Given the description of an element on the screen output the (x, y) to click on. 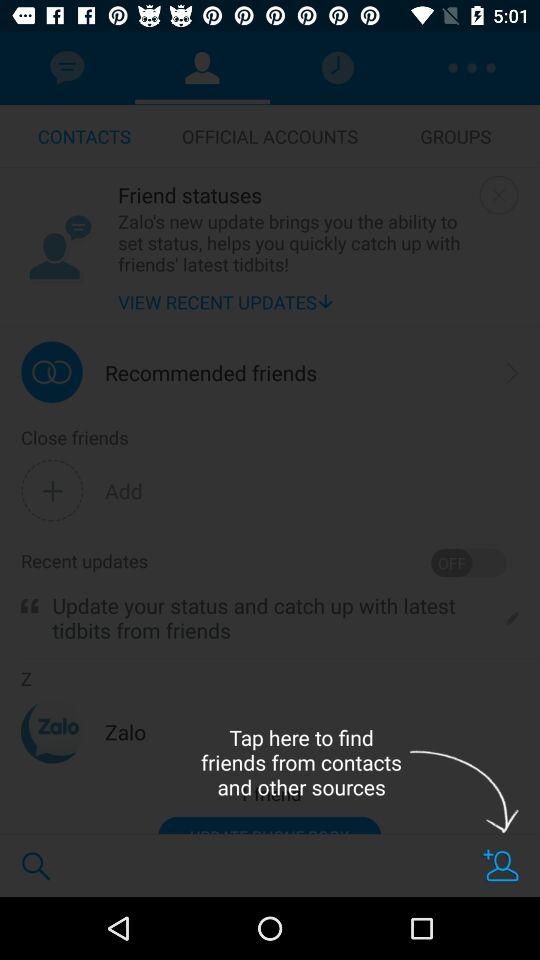
close window (498, 194)
